Given the description of an element on the screen output the (x, y) to click on. 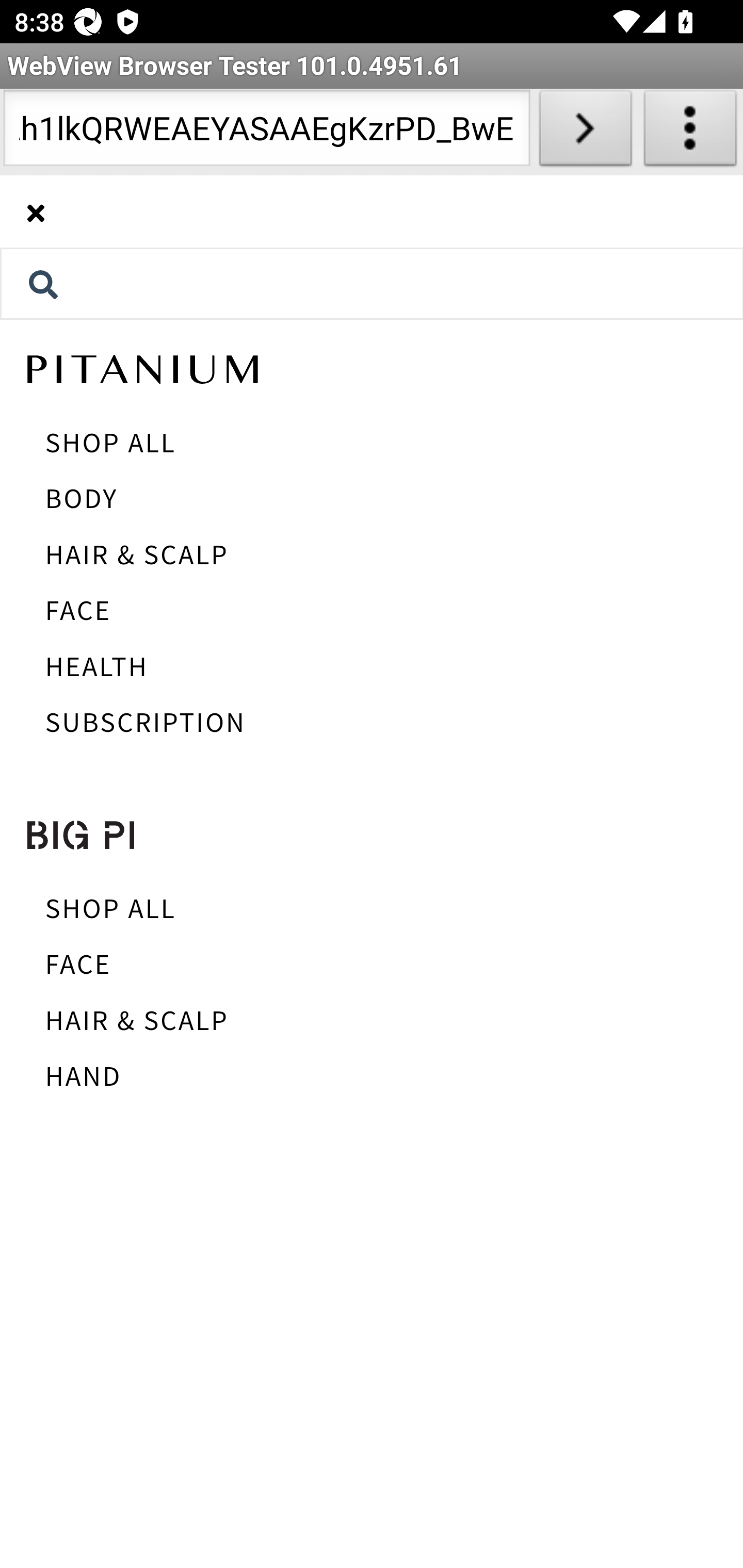
Load URL (585, 132)
About WebView (690, 132)
